Given the description of an element on the screen output the (x, y) to click on. 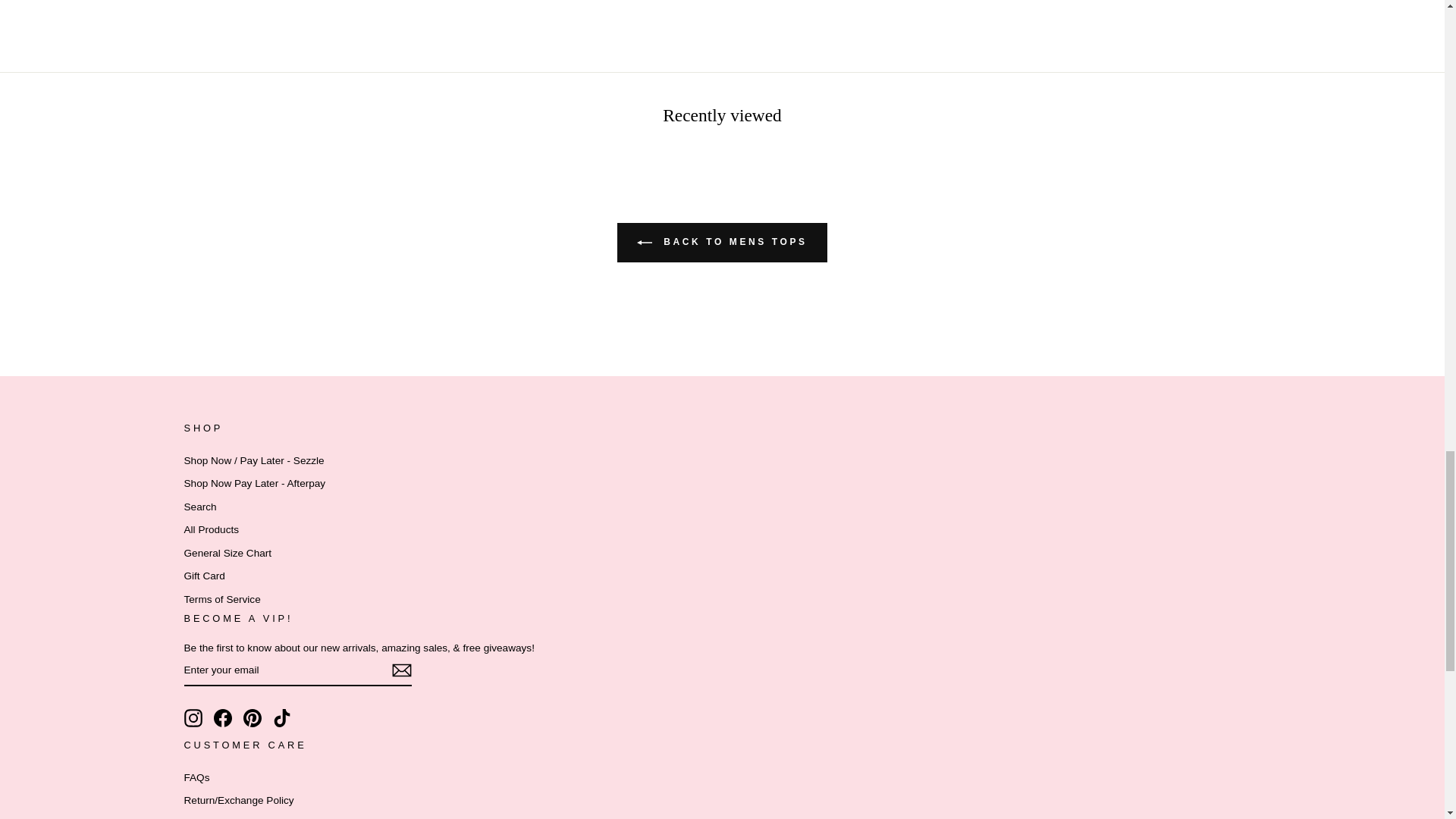
Hometown Heritage Boutique on Pinterest (251, 718)
Hometown Heritage Boutique on TikTok (282, 718)
Hometown Heritage Boutique on Facebook (222, 718)
Hometown Heritage Boutique on Instagram (192, 718)
